Given the description of an element on the screen output the (x, y) to click on. 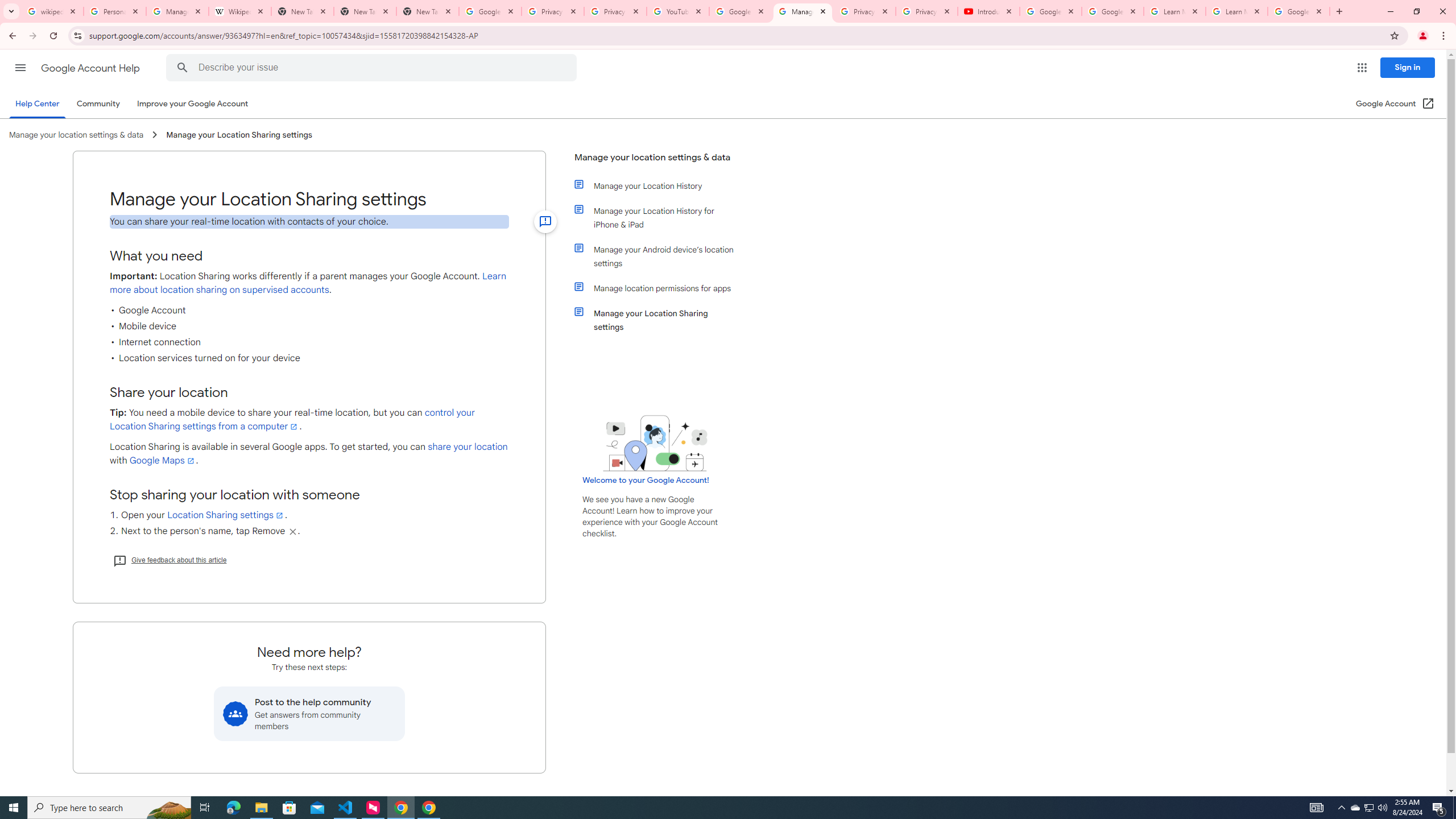
Google Account Help (1111, 11)
Google Account Help (91, 68)
Manage your Location Sharing settings - Google Account Help (802, 11)
New Tab (427, 11)
Google Account (Open in a new window) (1395, 103)
